Given the description of an element on the screen output the (x, y) to click on. 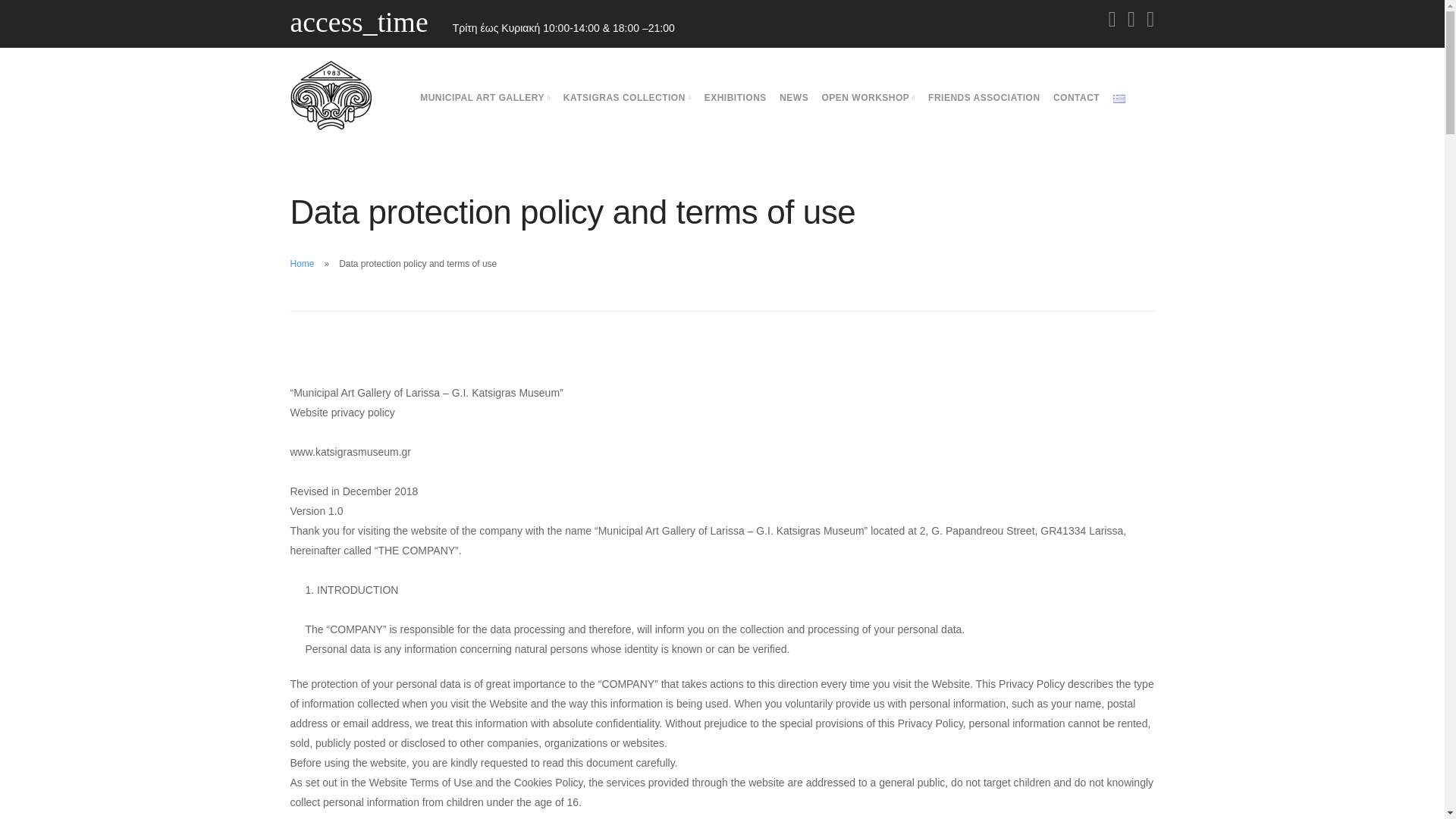
EXHIBITIONS (735, 97)
Home (301, 263)
NEWS (793, 97)
CONTACT (1075, 97)
FRIENDS ASSOCIATION (984, 97)
